Given the description of an element on the screen output the (x, y) to click on. 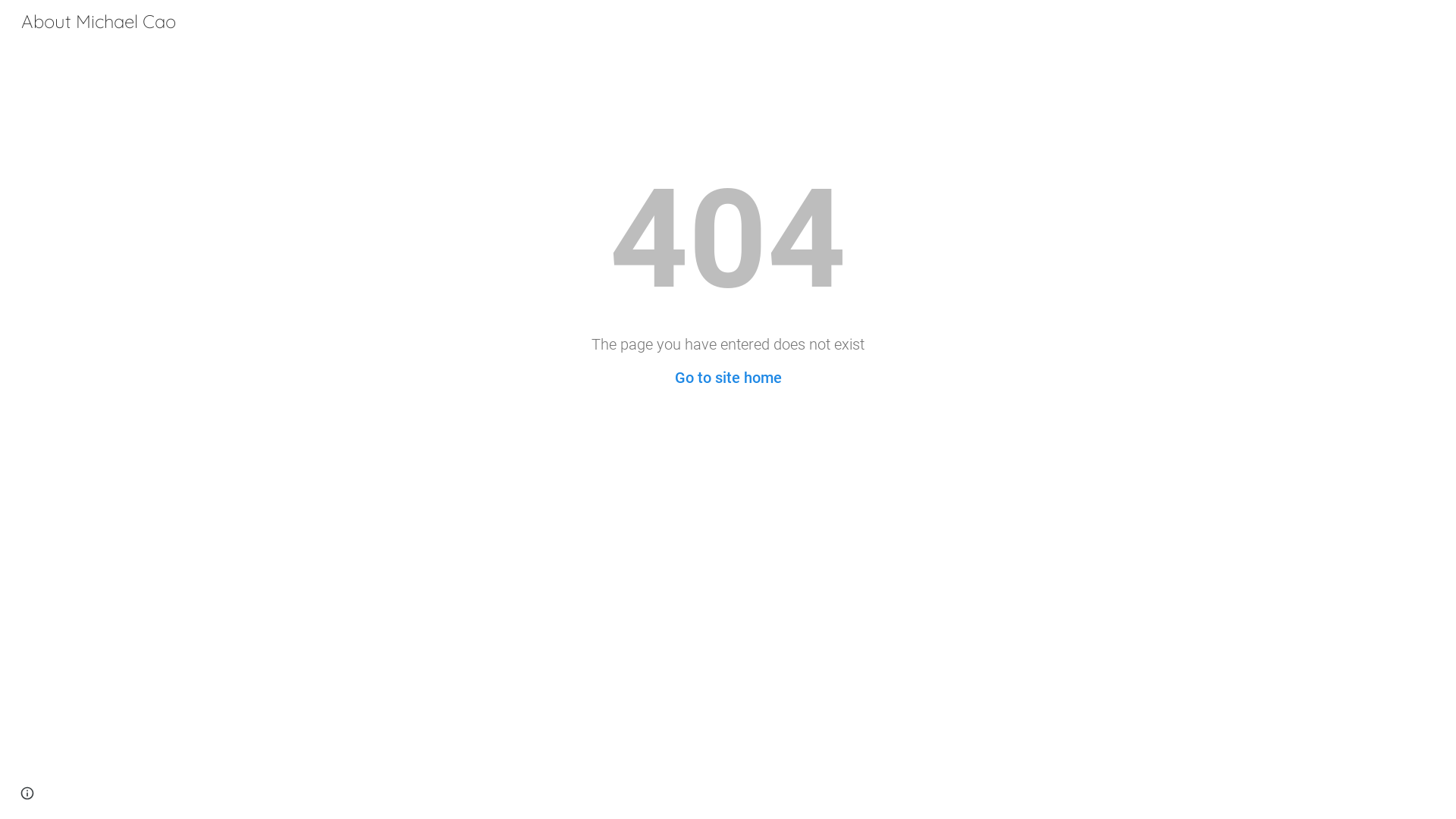
About Michael Cao Element type: text (98, 18)
Go to site home Element type: text (727, 377)
